Given the description of an element on the screen output the (x, y) to click on. 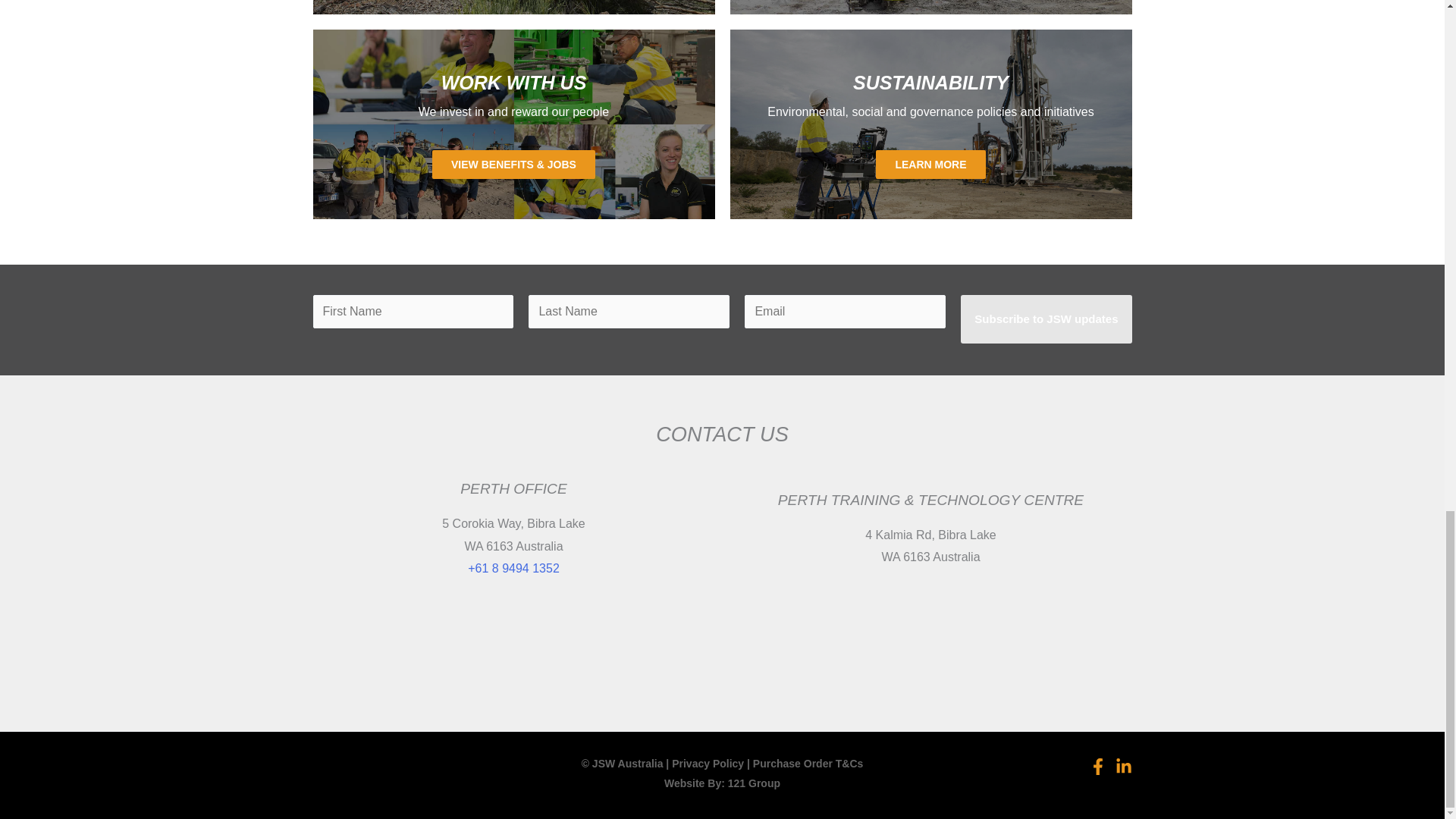
Subscribe to JSW updates (1045, 318)
AMEC-Blue-Member-Logo (721, 648)
